Given the description of an element on the screen output the (x, y) to click on. 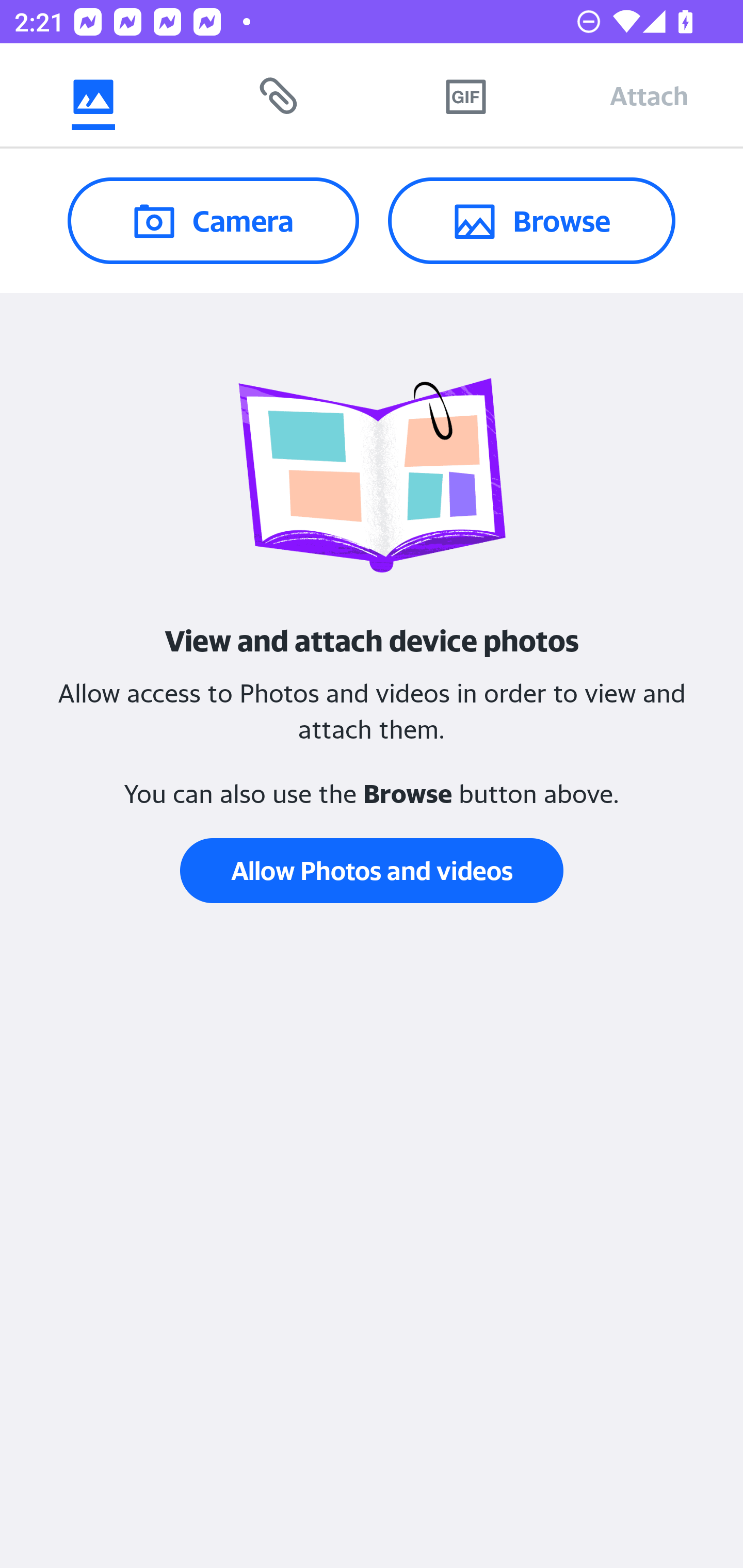
Camera photos (93, 95)
Recent attachments from mail (279, 95)
GIFs (465, 95)
Attach (649, 95)
Camera (212, 220)
Browse (531, 220)
Allow Photos and videos (371, 870)
